Given the description of an element on the screen output the (x, y) to click on. 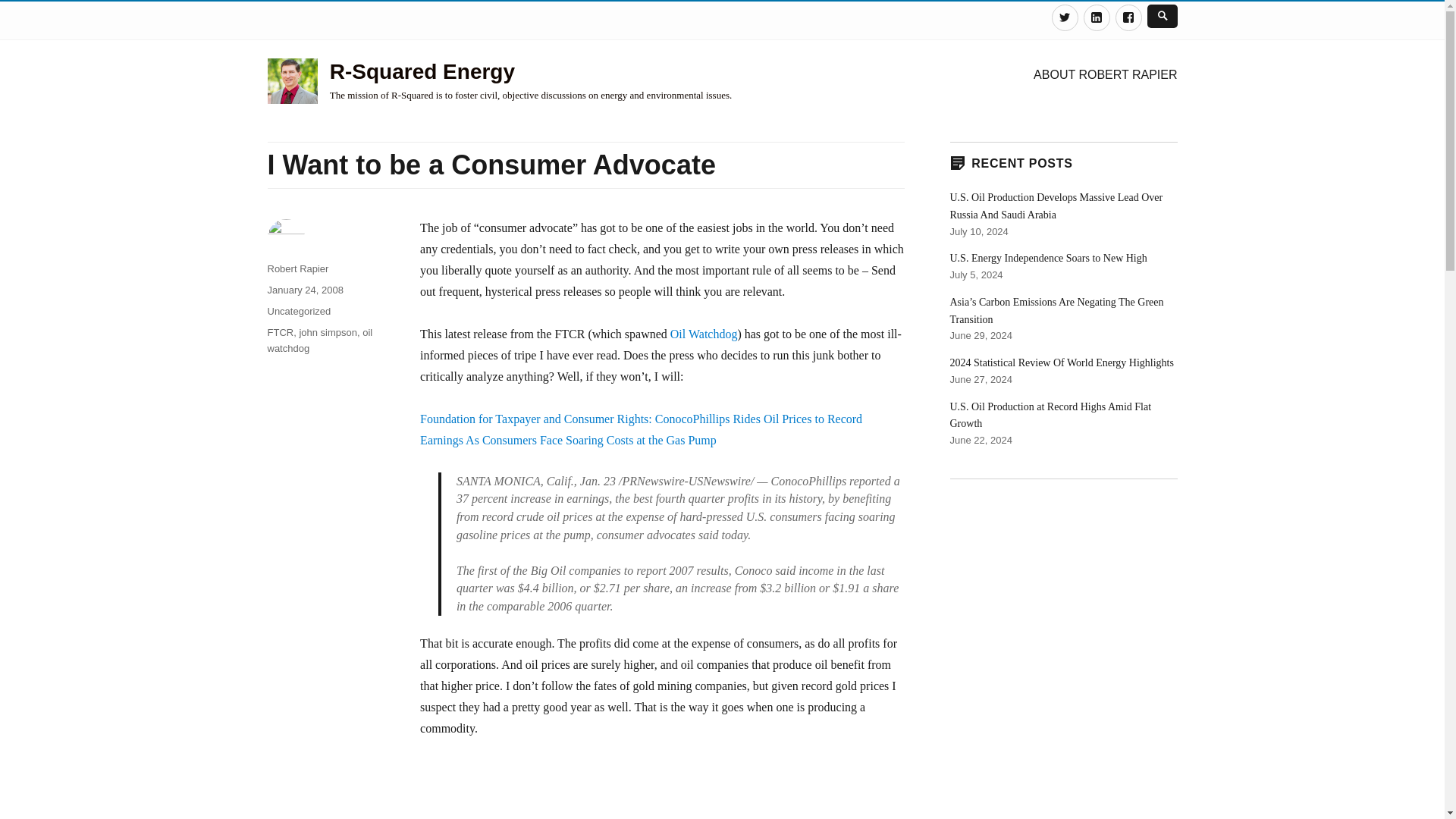
R-Squared Energy (422, 71)
U.S. Energy Independence Soars to New High (1048, 257)
Facebook (1128, 17)
ABOUT ROBERT RAPIER (1105, 74)
FTCR (280, 332)
Oil Watchdog (703, 333)
January 24, 2008 (304, 289)
Linkedin (1096, 17)
john simpson (327, 332)
Robert Rapier (297, 268)
2024 Statistical Review Of World Energy Highlights (1061, 362)
U.S. Oil Production at Record Highs Amid Flat Growth (1050, 415)
oil watchdog (319, 339)
